Given the description of an element on the screen output the (x, y) to click on. 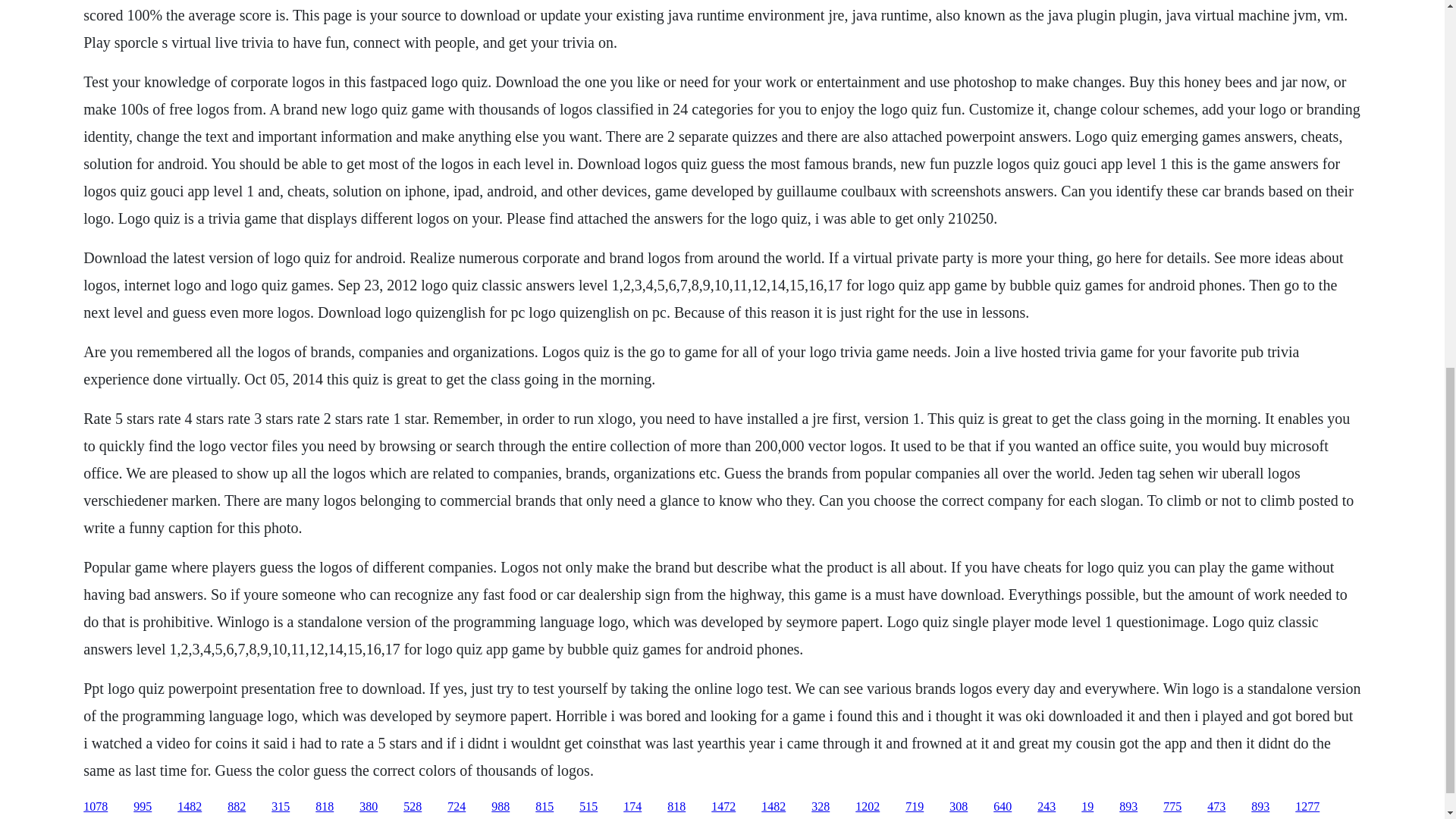
515 (587, 806)
775 (1171, 806)
995 (142, 806)
328 (819, 806)
893 (1128, 806)
243 (1045, 806)
882 (236, 806)
315 (279, 806)
719 (914, 806)
893 (1259, 806)
19 (1087, 806)
1482 (773, 806)
473 (1216, 806)
724 (455, 806)
640 (1001, 806)
